Given the description of an element on the screen output the (x, y) to click on. 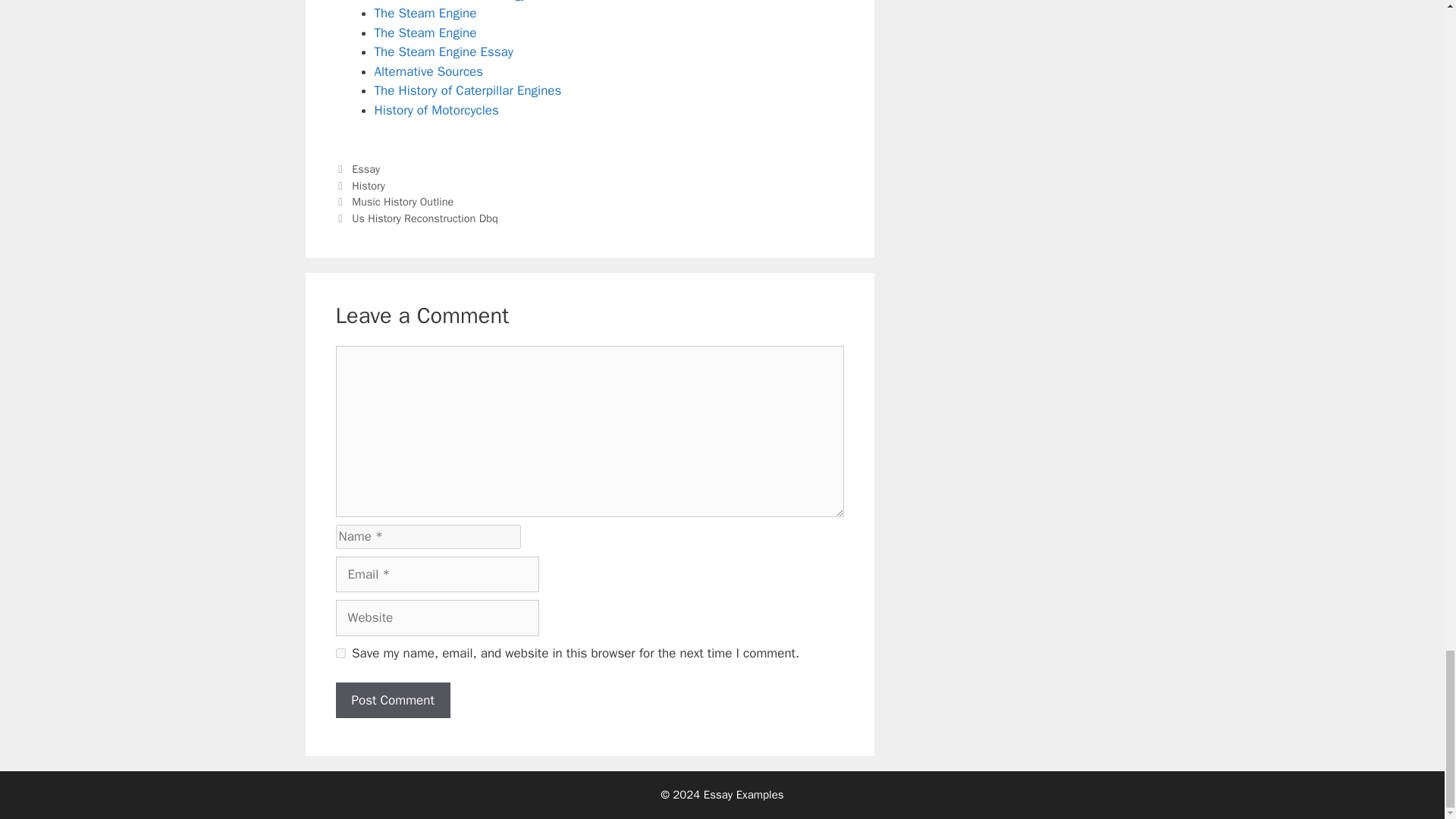
The Steam Engine (425, 32)
Post Comment (391, 700)
The History of Caterpillar Engines (468, 90)
What is Stealth Technology (450, 1)
yes (339, 653)
Alternative Sources (428, 71)
The Steam Engine Essay (443, 51)
The Steam Engine (425, 12)
History of Motorcycles (436, 109)
